Given the description of an element on the screen output the (x, y) to click on. 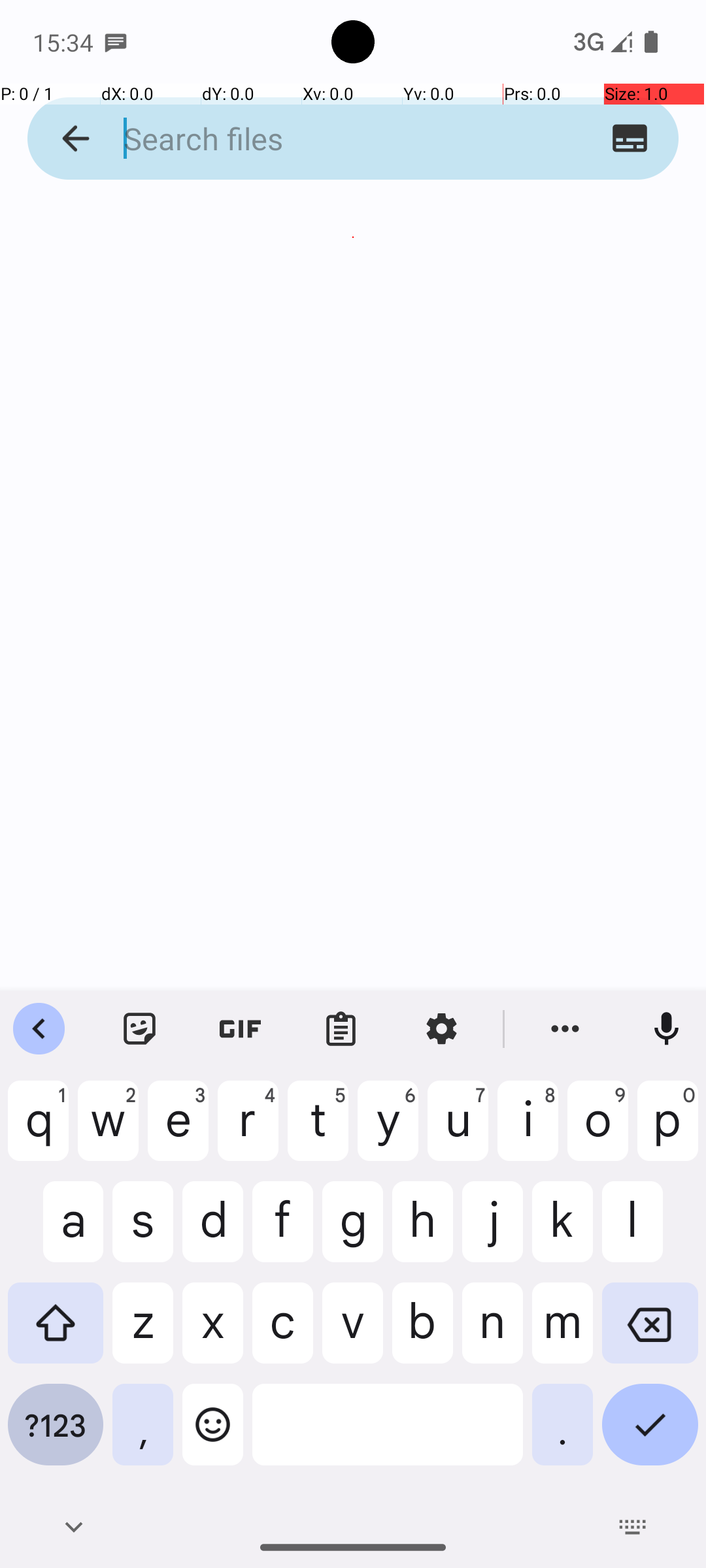
Search files Element type: android.widget.EditText (328, 138)
Toggle filename visibility Element type: android.widget.Button (629, 138)
